Given the description of an element on the screen output the (x, y) to click on. 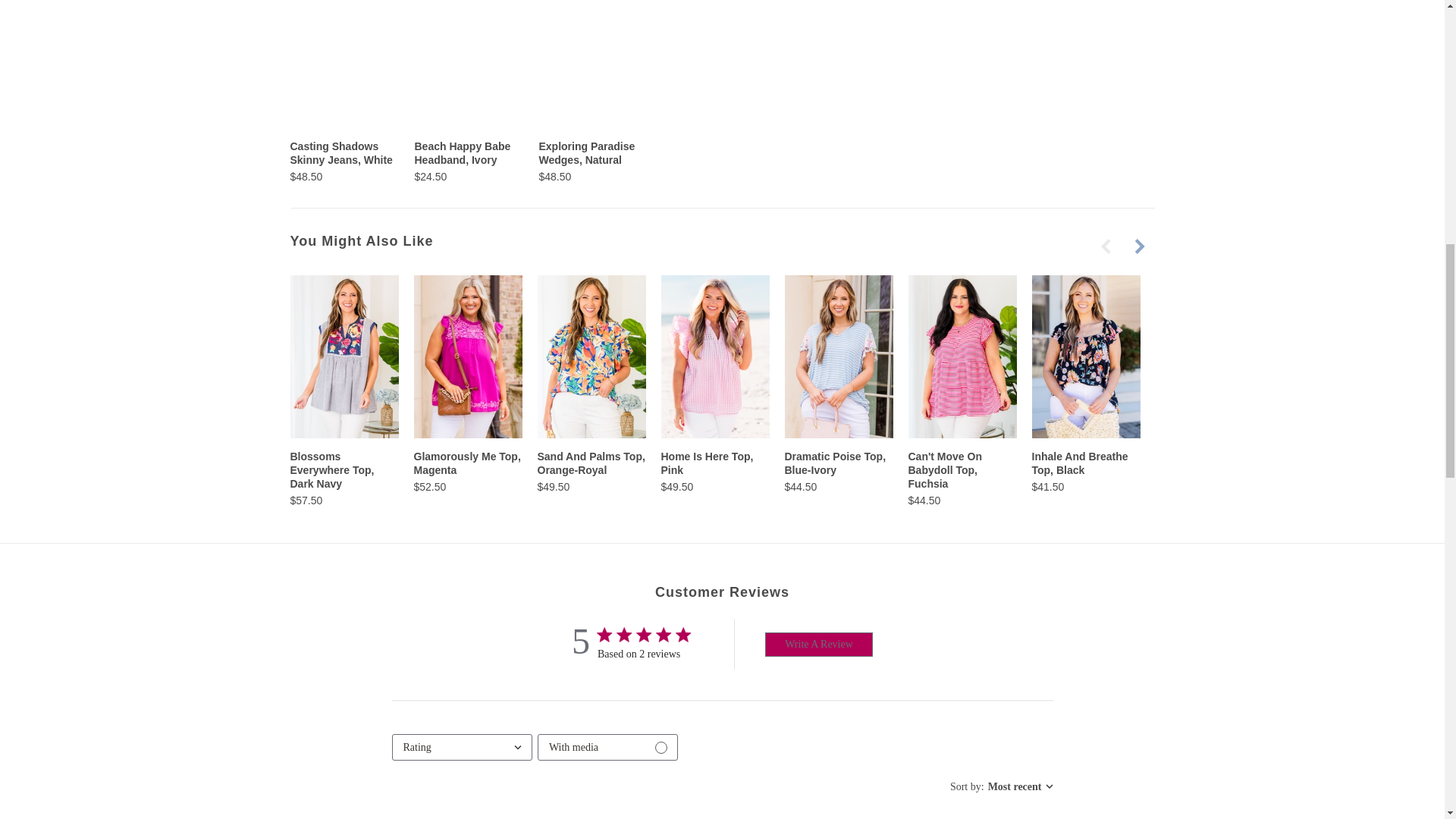
Go to product Can't Move On Babydoll Top, Fuchsia (962, 356)
Go to product Can't Move On Babydoll Top, Fuchsia (962, 477)
Go to product Home Is Here Top, Pink (715, 471)
Go to product Sand And Palms Top, Orange-Royal (591, 471)
Go to product Blossoms Everywhere Top, Dark Navy (343, 356)
Go to product Sand And Palms Top, Orange-Royal (591, 356)
Go to product Home Is Here Top, Pink (715, 356)
Go to product Dramatic Poise Top, Blue-Ivory (838, 356)
Go to product Glamorously Me Top, Magenta (467, 471)
Go to product Dramatic Poise Top, Blue-Ivory (838, 471)
Go to product Blossoms Everywhere Top, Dark Navy (343, 477)
Go to product Glamorously Me Top, Magenta (467, 356)
